Given the description of an element on the screen output the (x, y) to click on. 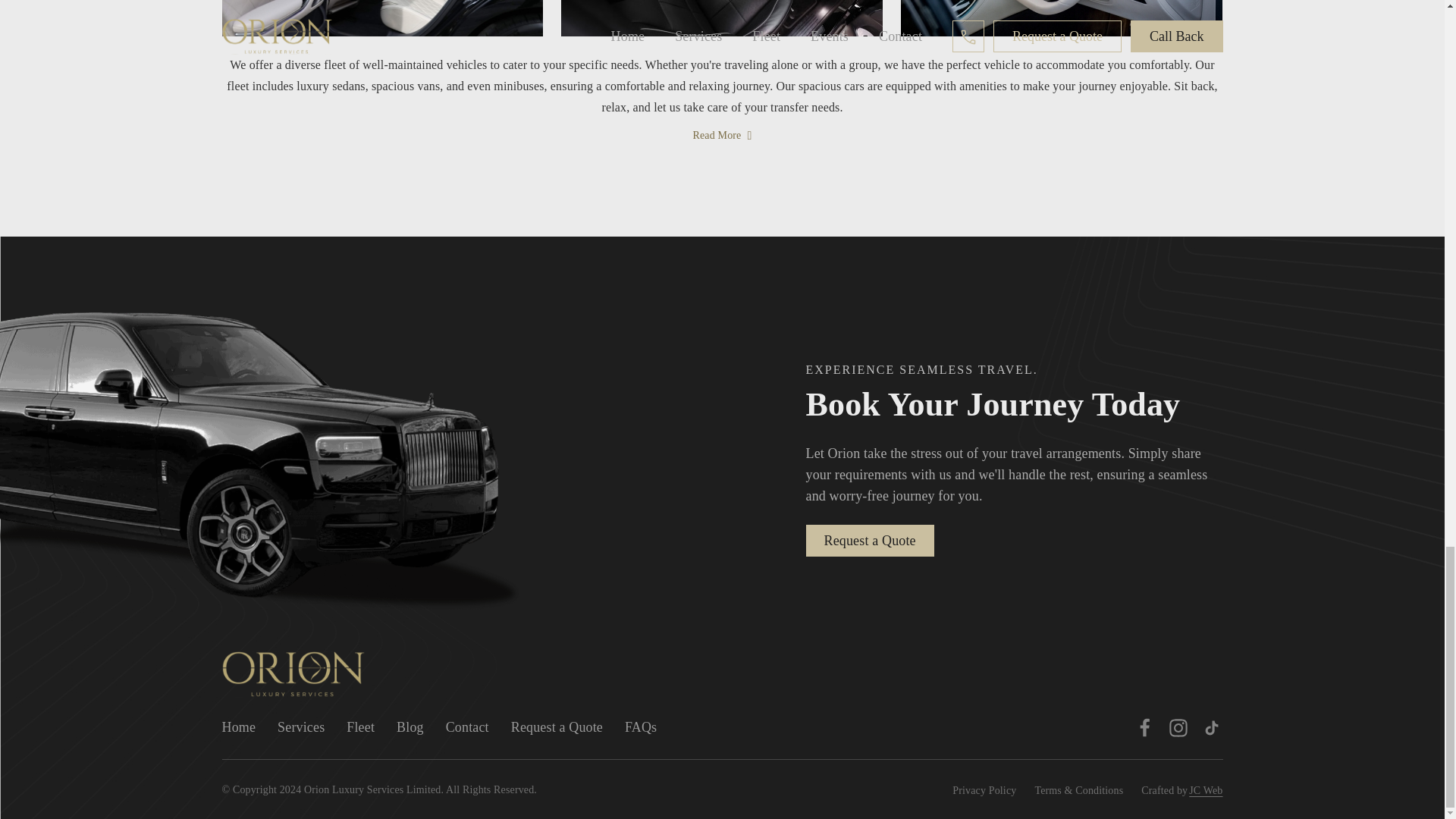
Request a Quote (556, 727)
Fleet (360, 727)
Home (238, 727)
Read More (722, 134)
FAQs (640, 727)
Privacy Policy (984, 789)
Services (301, 727)
Request a Quote (869, 540)
Blog (409, 727)
Contact (467, 727)
